Given the description of an element on the screen output the (x, y) to click on. 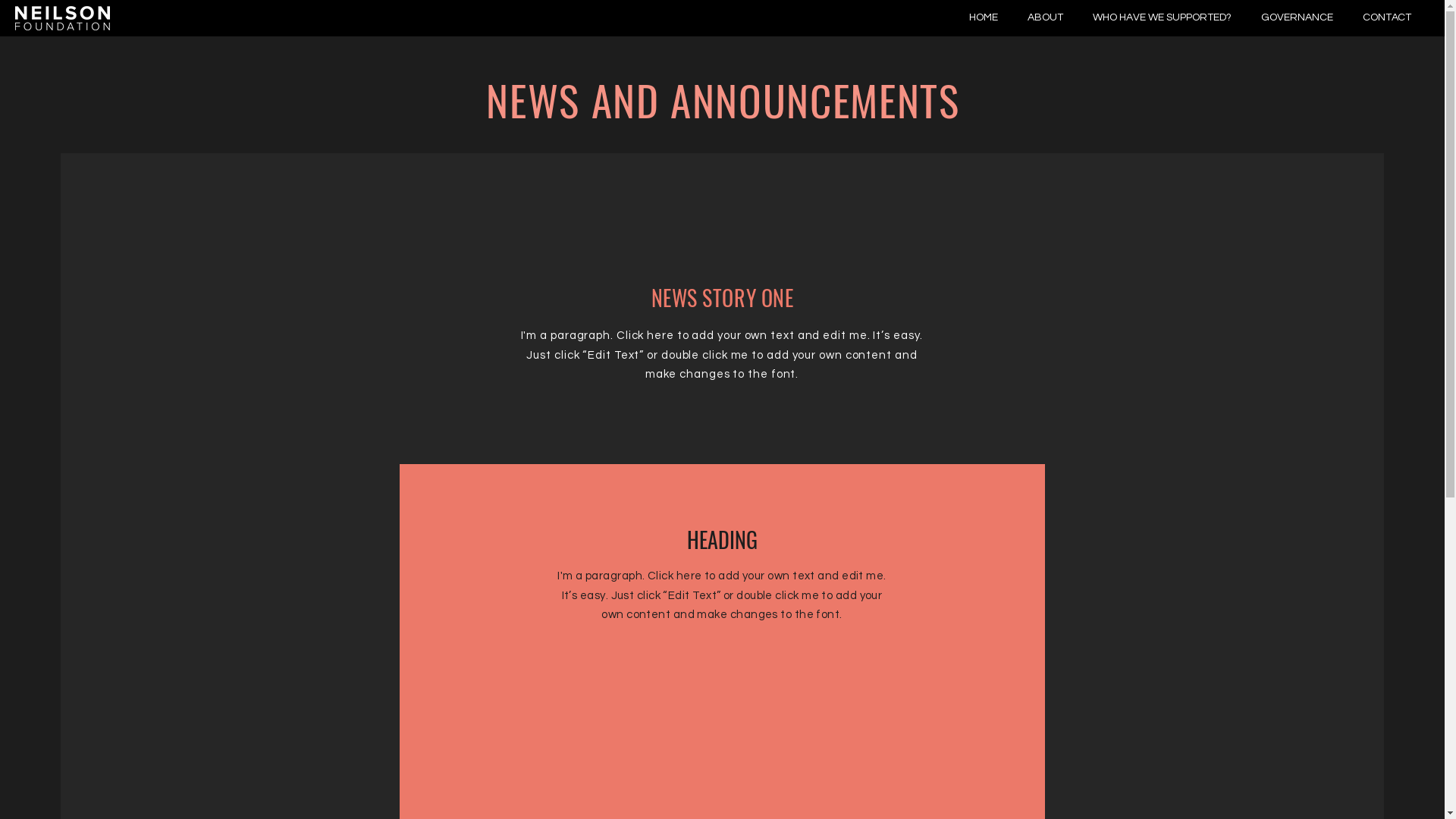
HOME Element type: text (986, 17)
ABOUT Element type: text (1048, 17)
WHO HAVE WE SUPPORTED? Element type: text (1165, 17)
GOVERNANCE Element type: text (1300, 17)
CONTACT Element type: text (1390, 17)
